Given the description of an element on the screen output the (x, y) to click on. 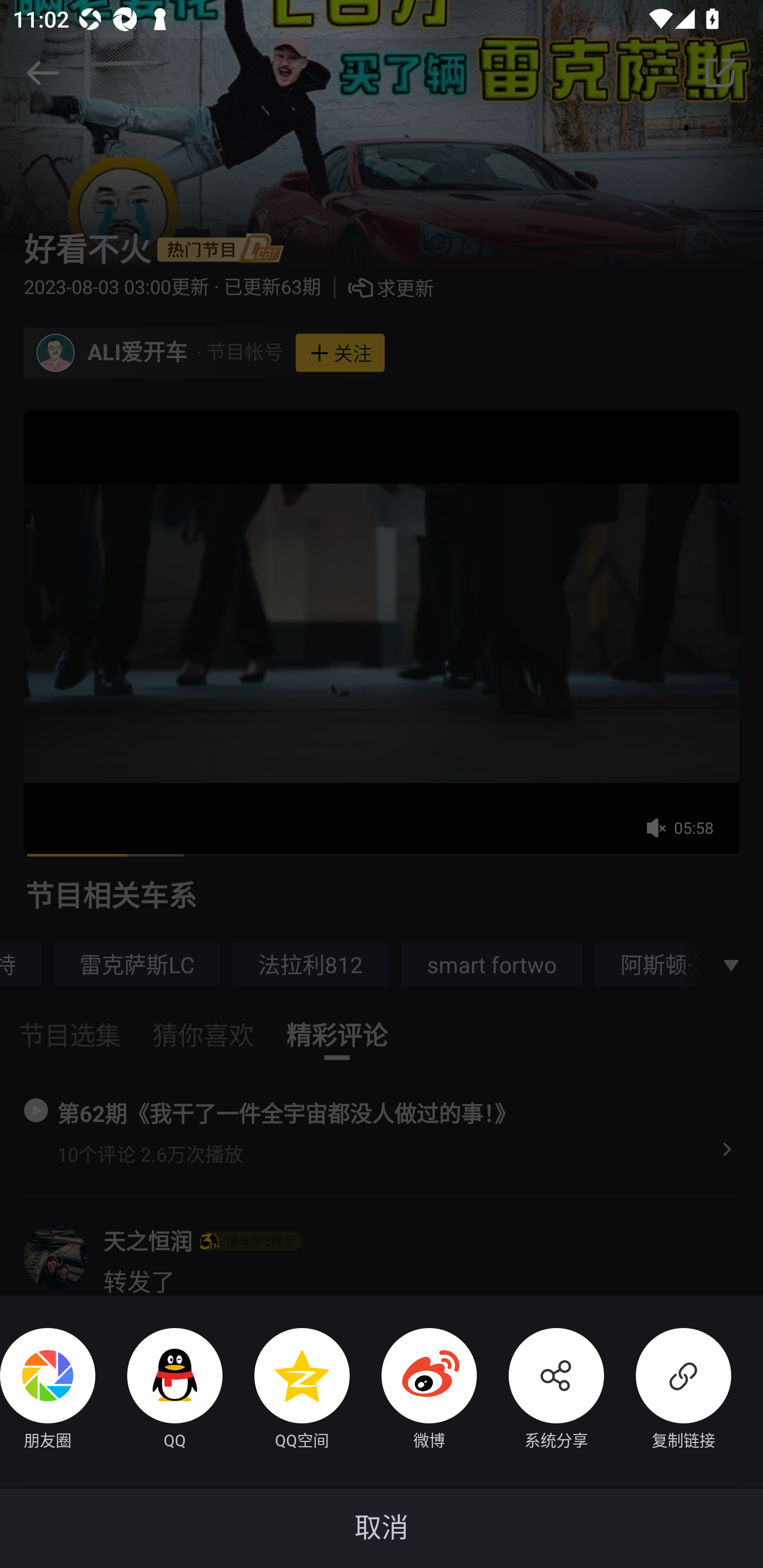
朋友圈 (47, 1390)
QQ (158, 1390)
QQ空间 (285, 1390)
微博 (412, 1390)
系统分享 (540, 1390)
复制链接 (667, 1390)
取消 (381, 1528)
